Given the description of an element on the screen output the (x, y) to click on. 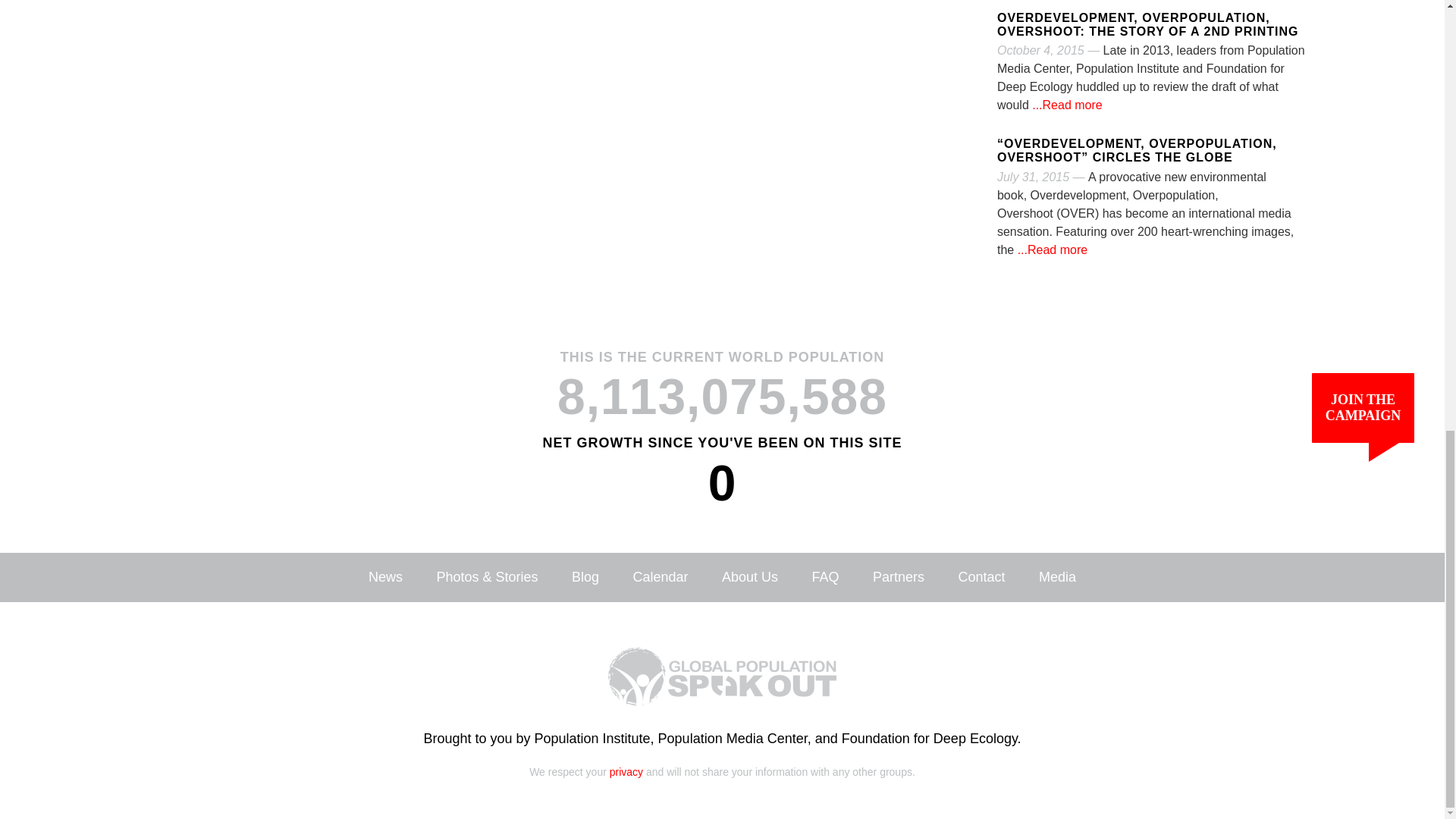
Foundation for Deep Ecology (929, 738)
Partners (898, 576)
Contact (981, 576)
...Read more (1050, 249)
About Us (749, 576)
FAQ (824, 576)
Population Media Center (733, 738)
Blog (585, 576)
Calendar (659, 576)
...Read more (1065, 104)
Population Institute (591, 738)
News (385, 576)
Media (1057, 576)
